Given the description of an element on the screen output the (x, y) to click on. 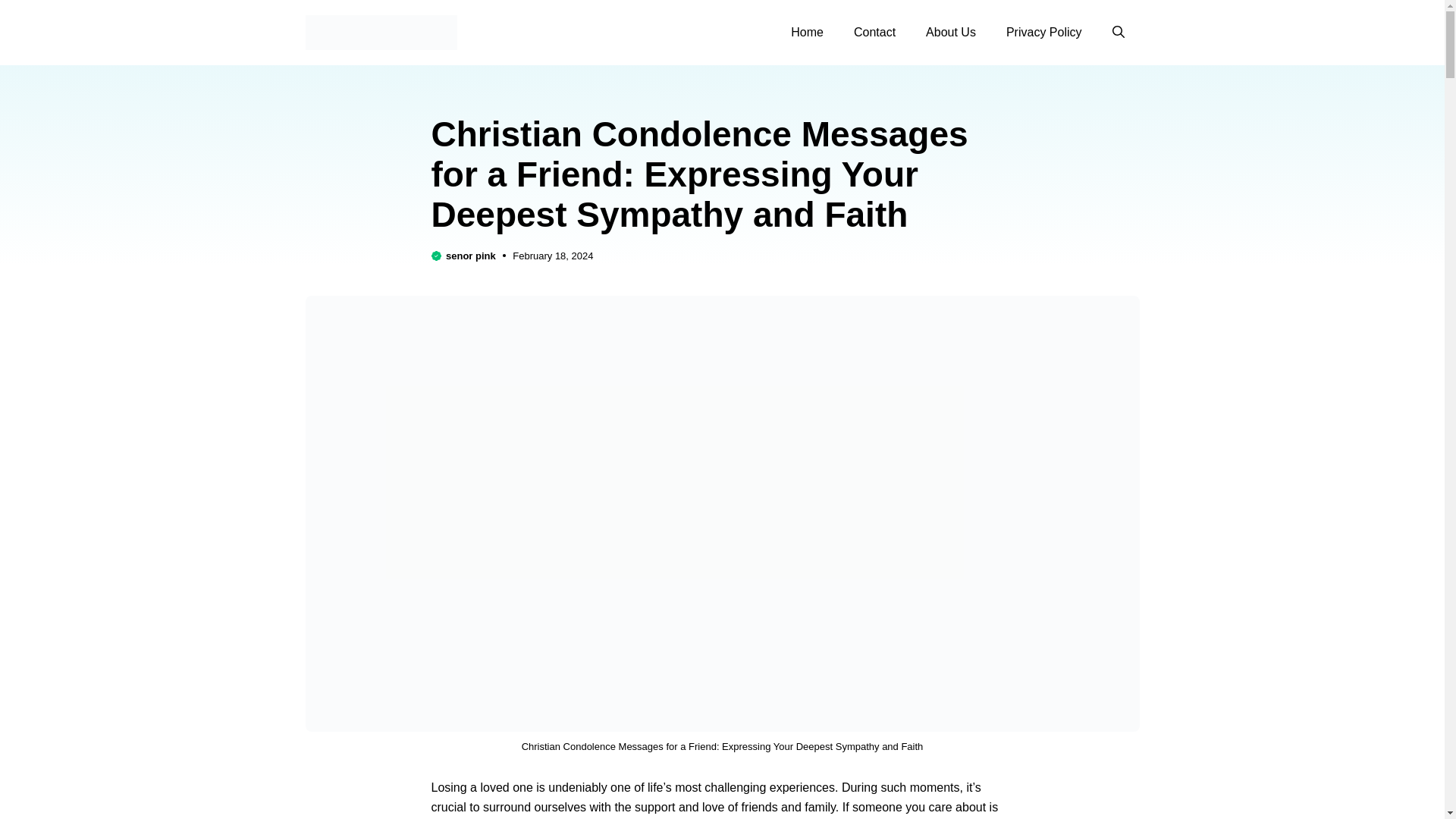
Privacy Policy (1044, 32)
About Us (951, 32)
senor pink (470, 255)
Contact (874, 32)
Home (807, 32)
